Given the description of an element on the screen output the (x, y) to click on. 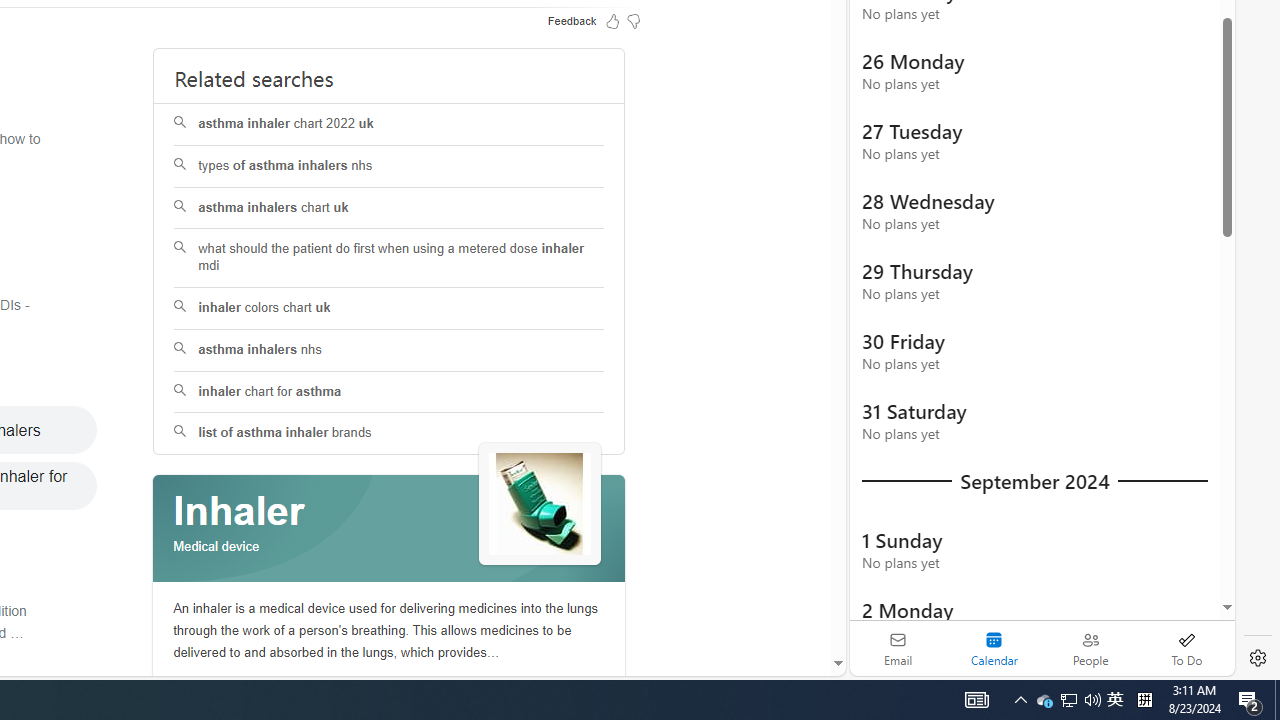
inhaler chart for asthma (389, 391)
asthma inhalers chart uk (389, 208)
Selected calendar module. Date today is 22 (994, 648)
inhaler chart for asthma (388, 391)
asthma inhalers nhs (388, 349)
Search more (792, 604)
AutomationID: mfa_root (762, 603)
asthma inhaler chart 2022 uk (388, 123)
asthma inhaler chart 2022 uk (389, 124)
Email (898, 648)
Feedback Dislike (633, 20)
